Given the description of an element on the screen output the (x, y) to click on. 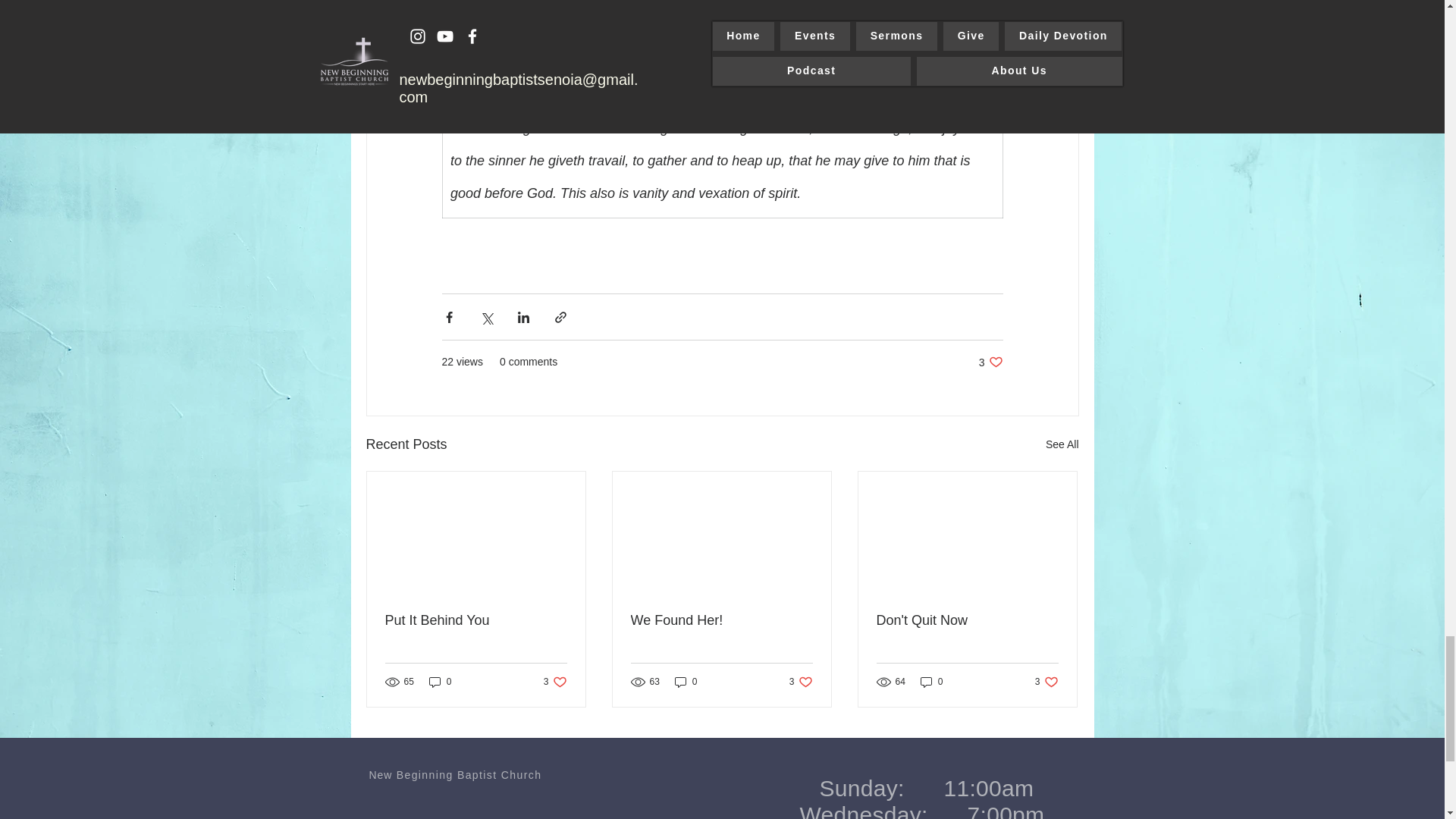
We Found Her! (800, 681)
See All (721, 620)
0 (1046, 681)
Put It Behind You (1061, 444)
0 (555, 681)
Don't Quit Now (685, 681)
0 (476, 620)
